Given the description of an element on the screen output the (x, y) to click on. 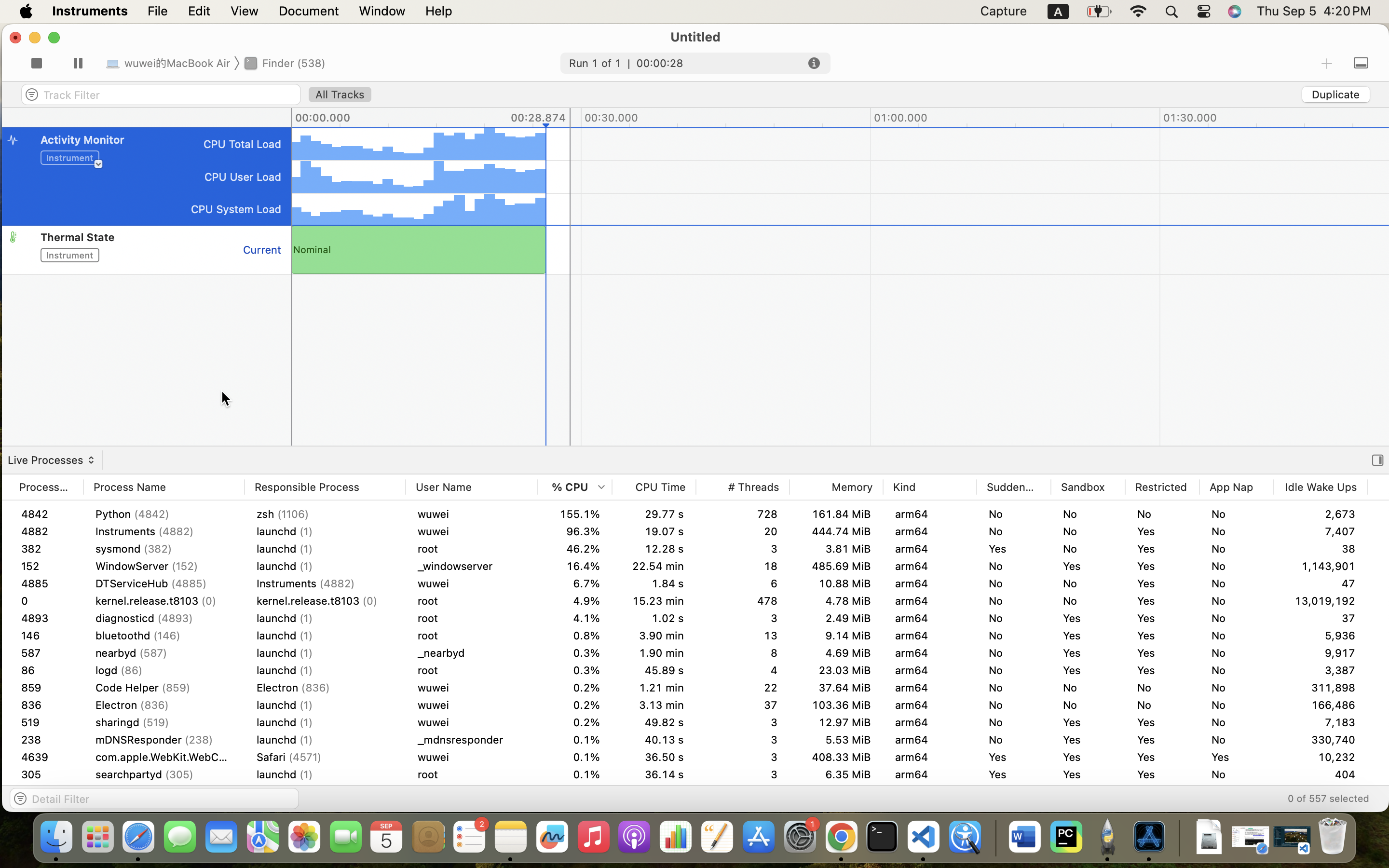
2.55 MiB Element type: AXStaticText (835, 583)
Live Processes Element type: AXPopUpButton (49, 459)
575 Element type: AXStaticText (46, 687)
14.31 s Element type: AXStaticText (653, 531)
wuwei的MacBook Air Element type: AXPopUpButton (169, 62)
